Given the description of an element on the screen output the (x, y) to click on. 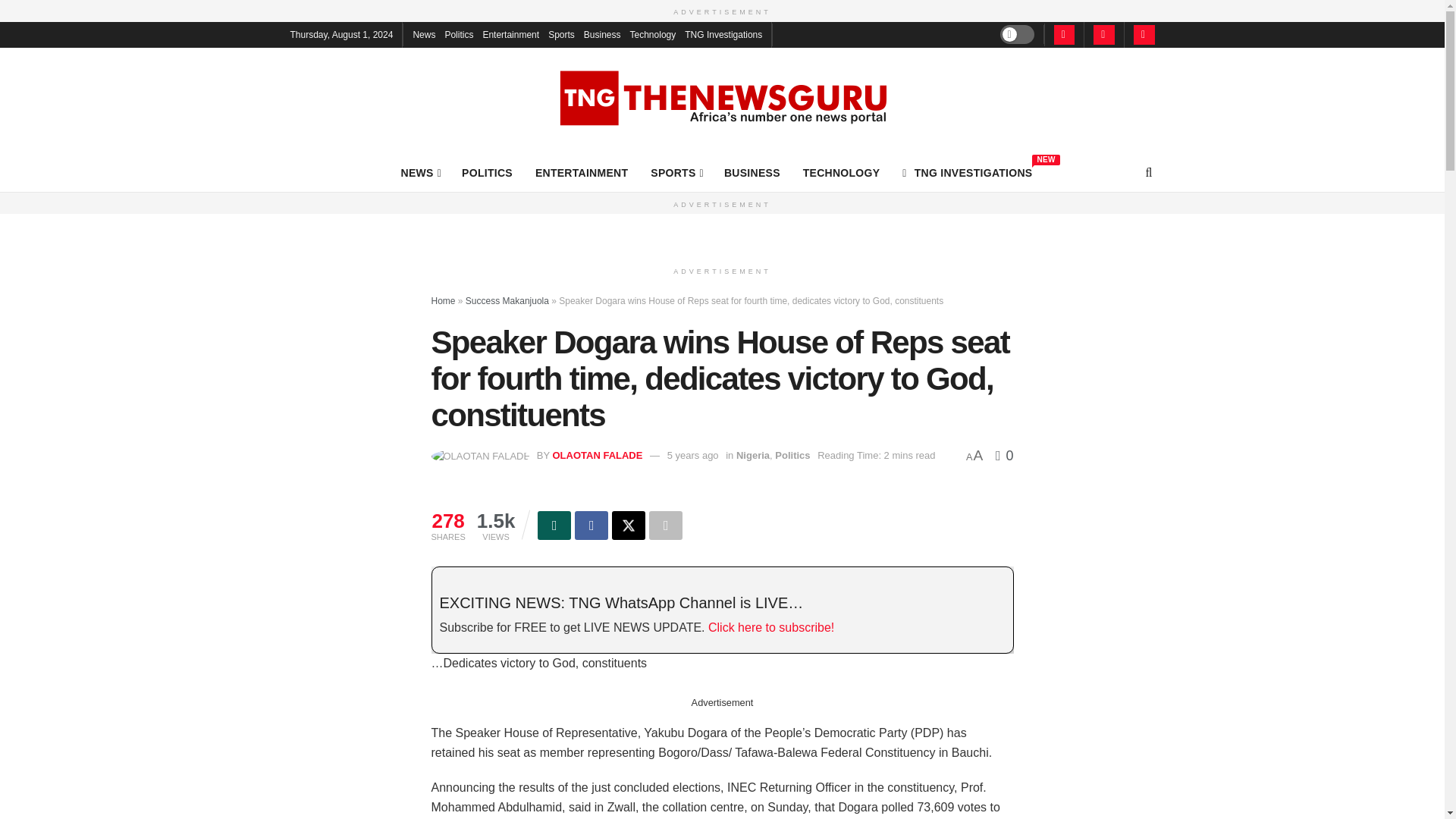
NEWS (420, 172)
POLITICS (486, 172)
Technology (653, 33)
Entertainment (509, 33)
BUSINESS (751, 172)
TECHNOLOGY (967, 172)
Sports (841, 172)
ENTERTAINMENT (561, 33)
SPORTS (581, 172)
Politics (675, 172)
TNG Investigations (458, 33)
Business (722, 33)
